Given the description of an element on the screen output the (x, y) to click on. 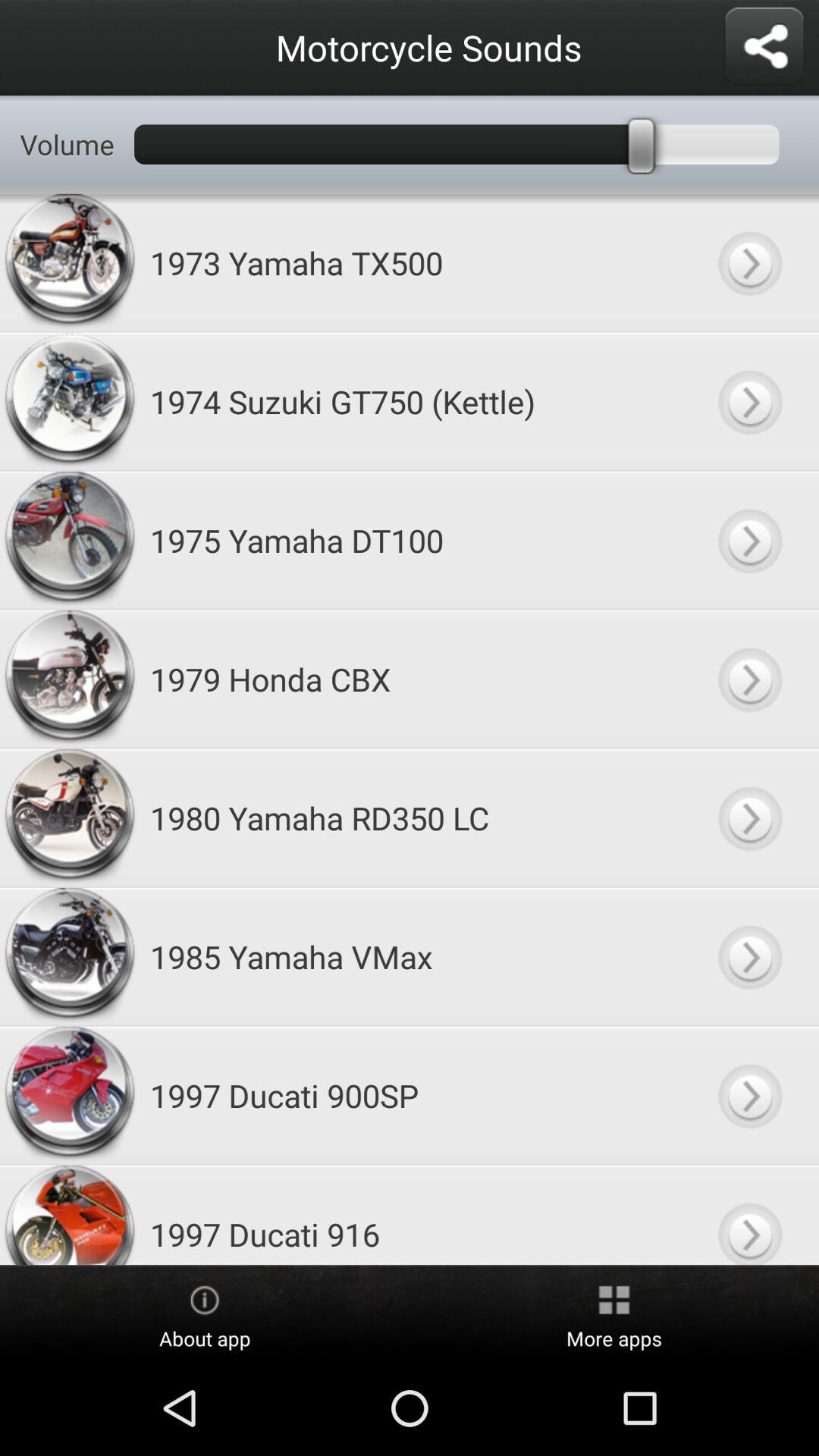
select motorcycle (749, 956)
